Given the description of an element on the screen output the (x, y) to click on. 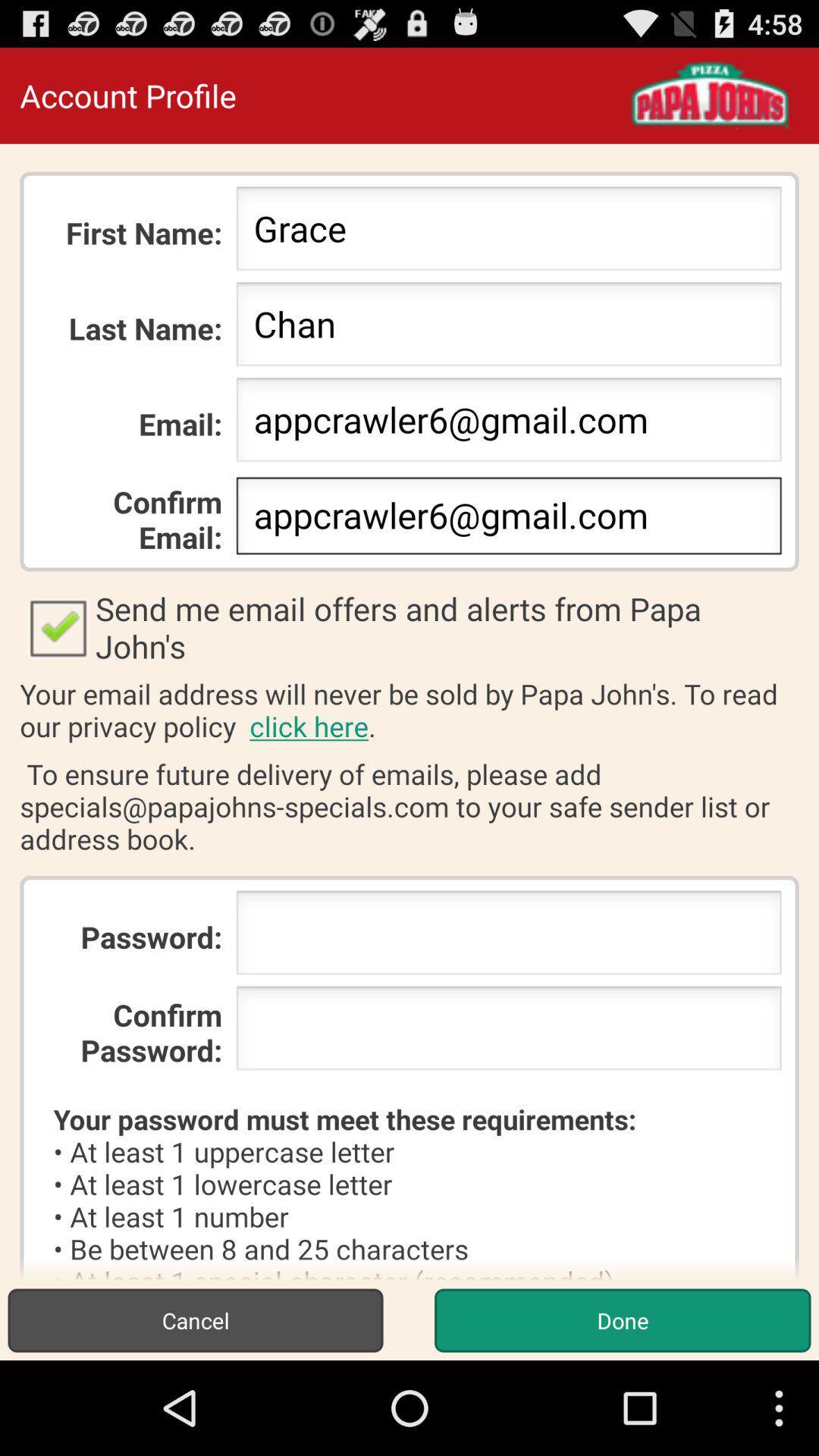
turn off the item above chan (508, 232)
